Given the description of an element on the screen output the (x, y) to click on. 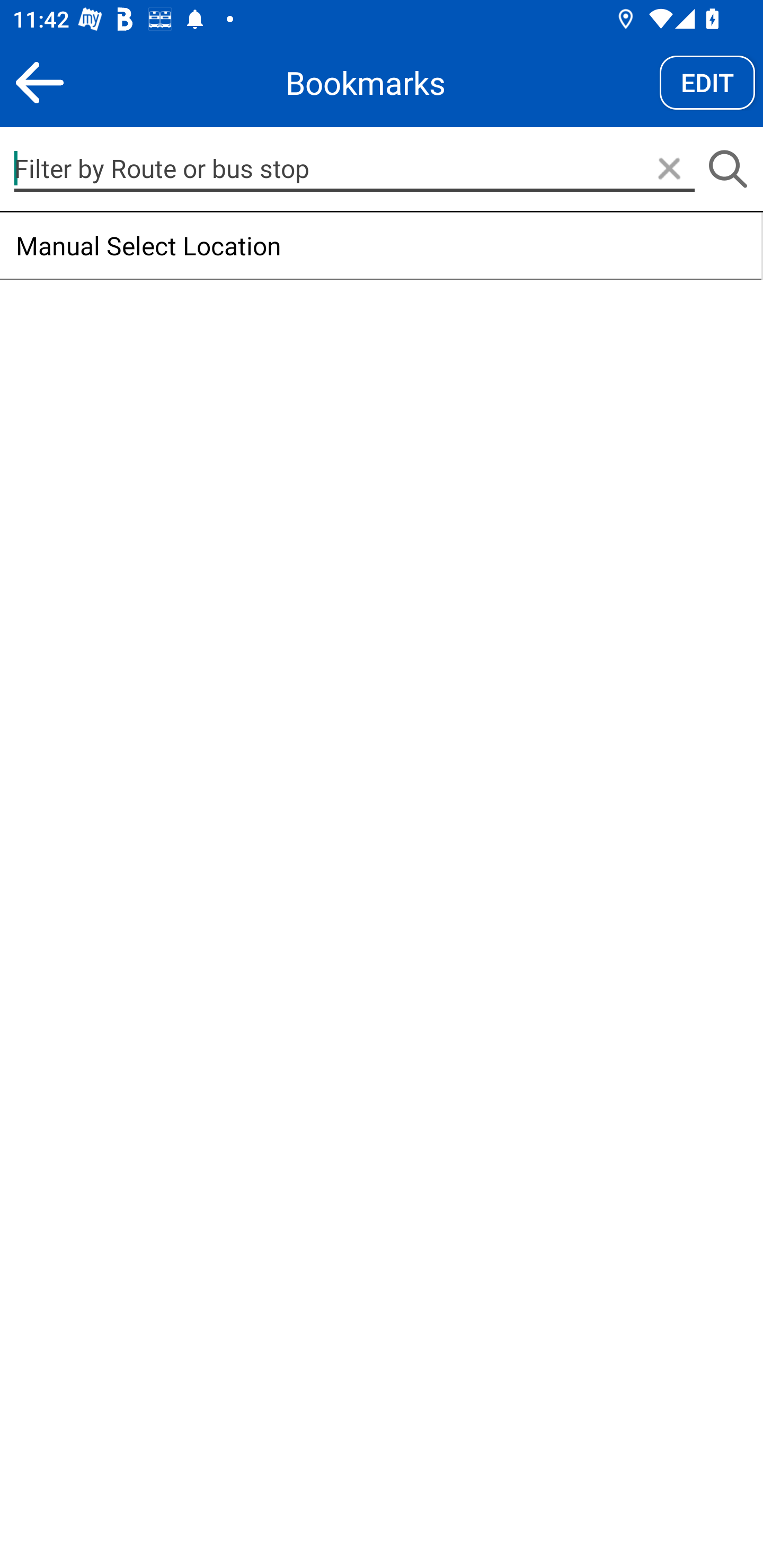
Back (39, 82)
EDIT Edit (707, 81)
Filter by Route or bus stop (354, 168)
Search (727, 169)
Clear (669, 169)
Manual Select Location (380, 245)
